Given the description of an element on the screen output the (x, y) to click on. 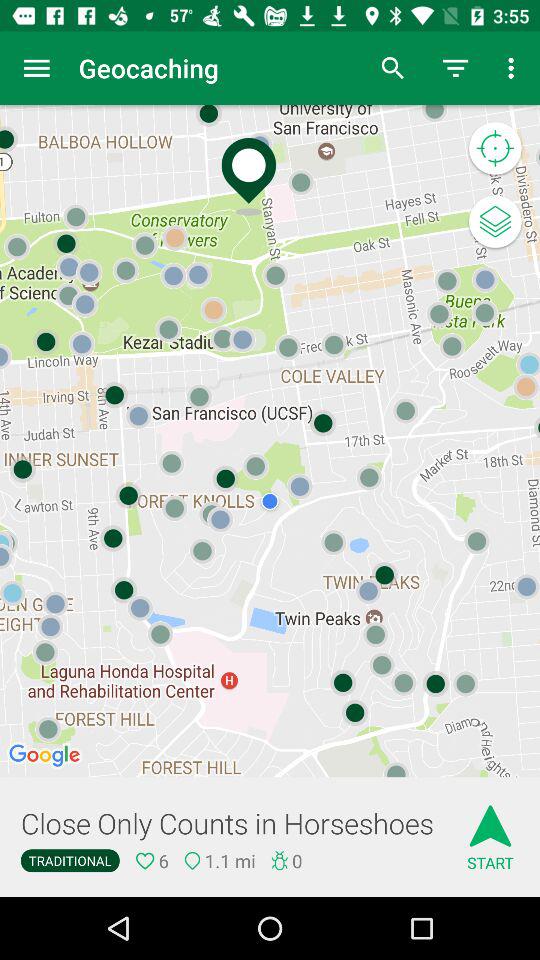
turn off the icon next to 6 (70, 860)
